Given the description of an element on the screen output the (x, y) to click on. 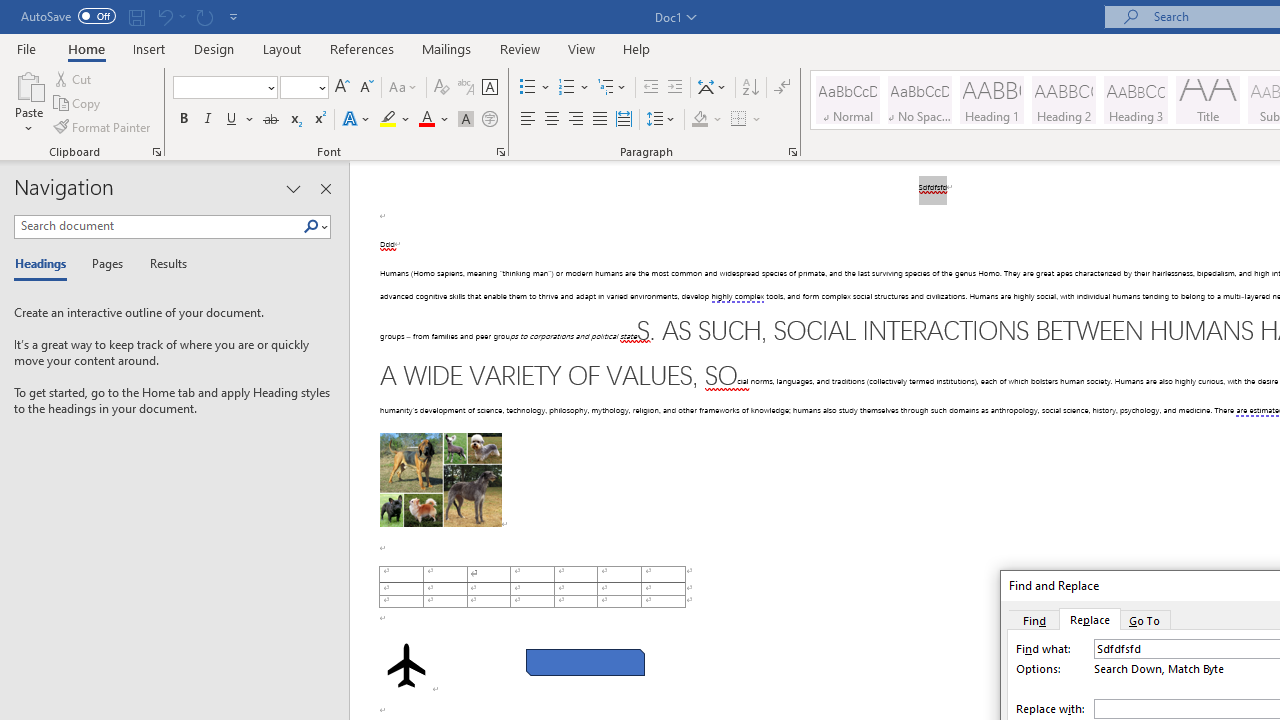
Font (218, 87)
More Options (757, 119)
Office Clipboard... (156, 151)
Sort... (750, 87)
Bullets (527, 87)
Shrink Font (365, 87)
Text Highlight Color (395, 119)
Borders (739, 119)
Font... (500, 151)
Airplane with solid fill (406, 665)
Numbering (566, 87)
Repeat Paragraph Alignment (204, 15)
Underline (239, 119)
Borders (746, 119)
File Tab (26, 48)
